Given the description of an element on the screen output the (x, y) to click on. 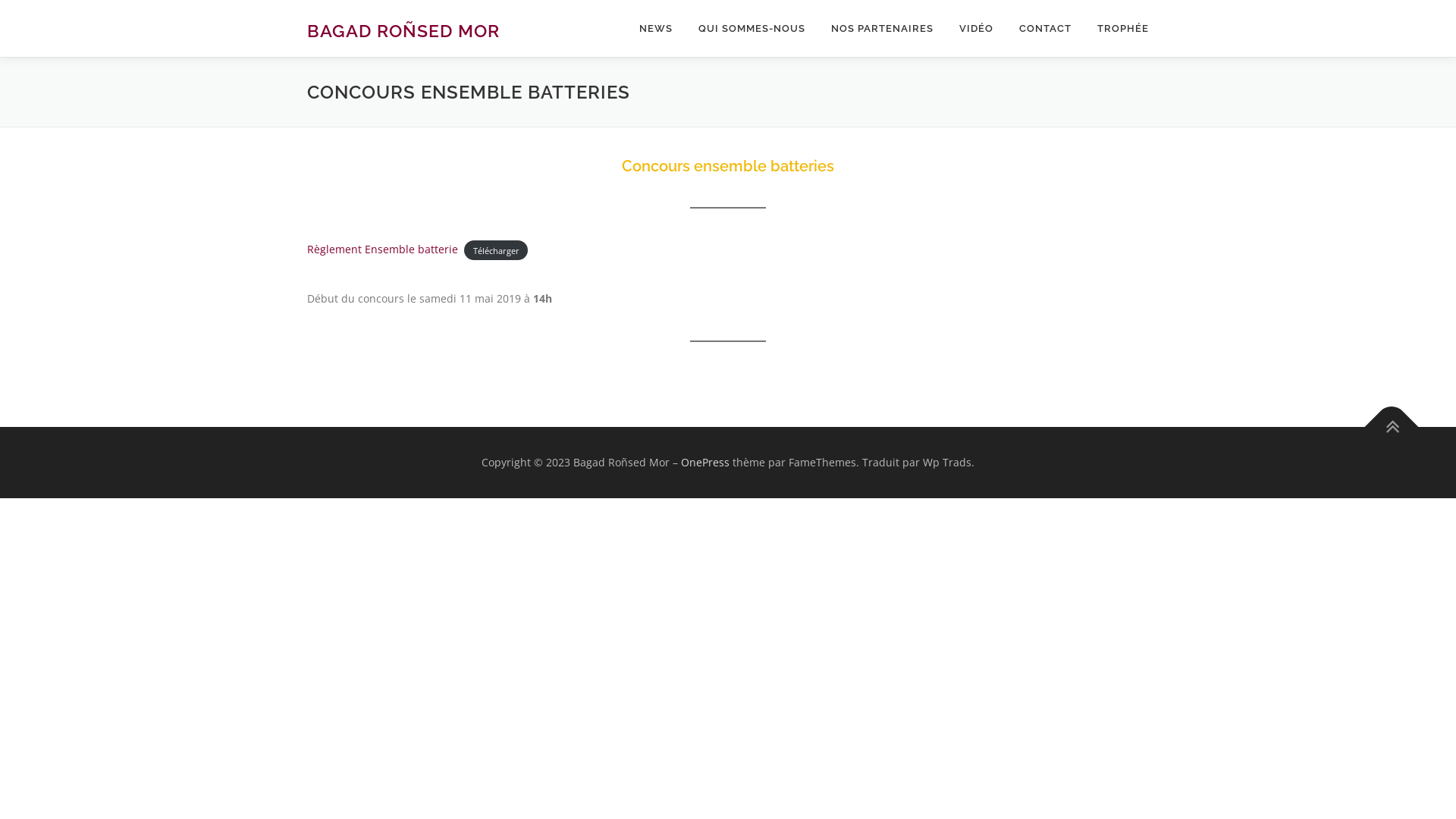
NEWS Element type: text (655, 28)
Retour en haut Element type: hover (1383, 418)
NOS PARTENAIRES Element type: text (882, 28)
QUI SOMMES-NOUS Element type: text (751, 28)
CONTACT Element type: text (1045, 28)
OnePress Element type: text (704, 462)
